Given the description of an element on the screen output the (x, y) to click on. 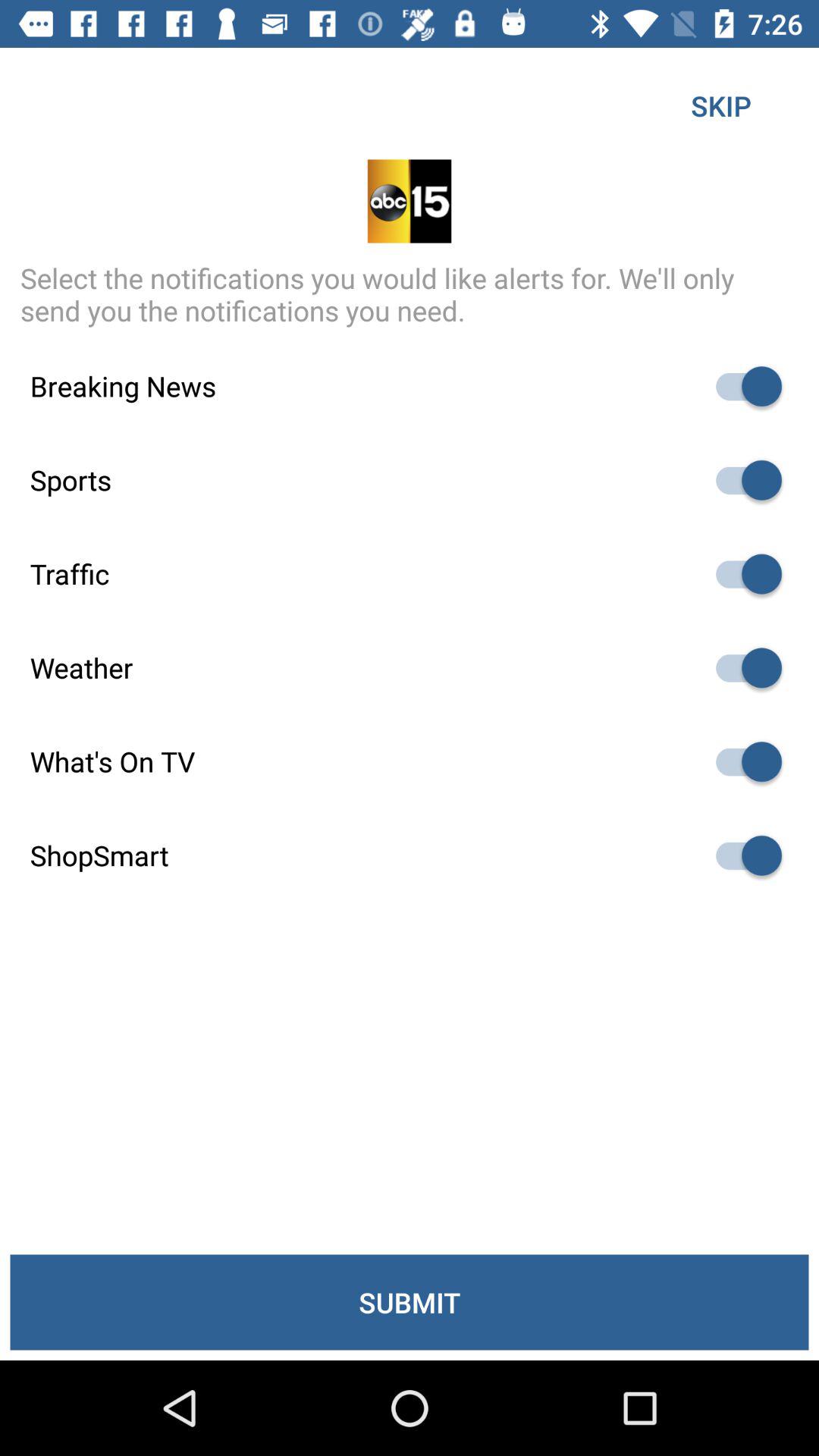
taggle the autoplay option (741, 761)
